Given the description of an element on the screen output the (x, y) to click on. 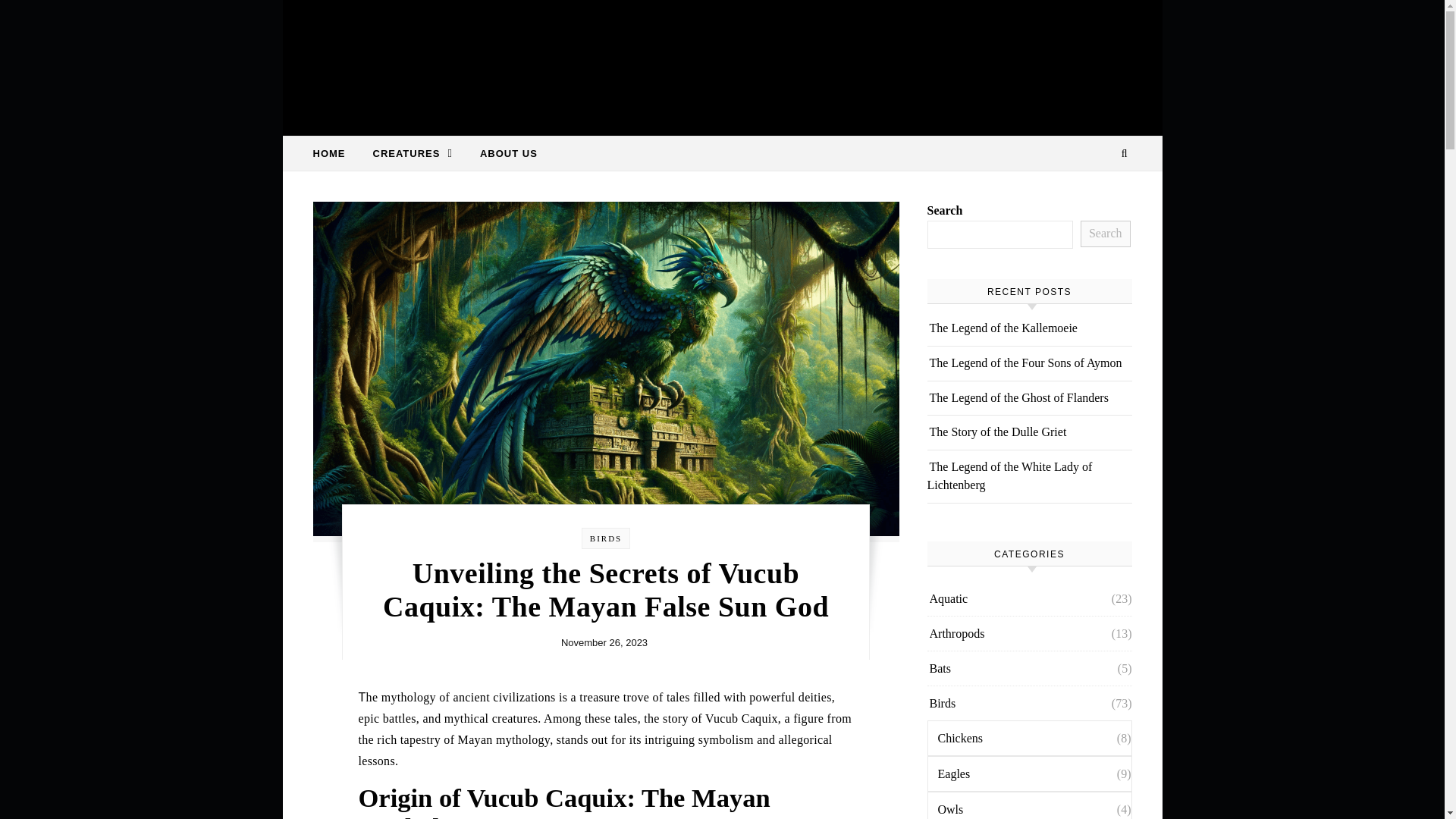
Realm Whispers (721, 61)
BIRDS (605, 537)
CREATURES (412, 153)
HOME (334, 153)
ABOUT US (502, 153)
